Given the description of an element on the screen output the (x, y) to click on. 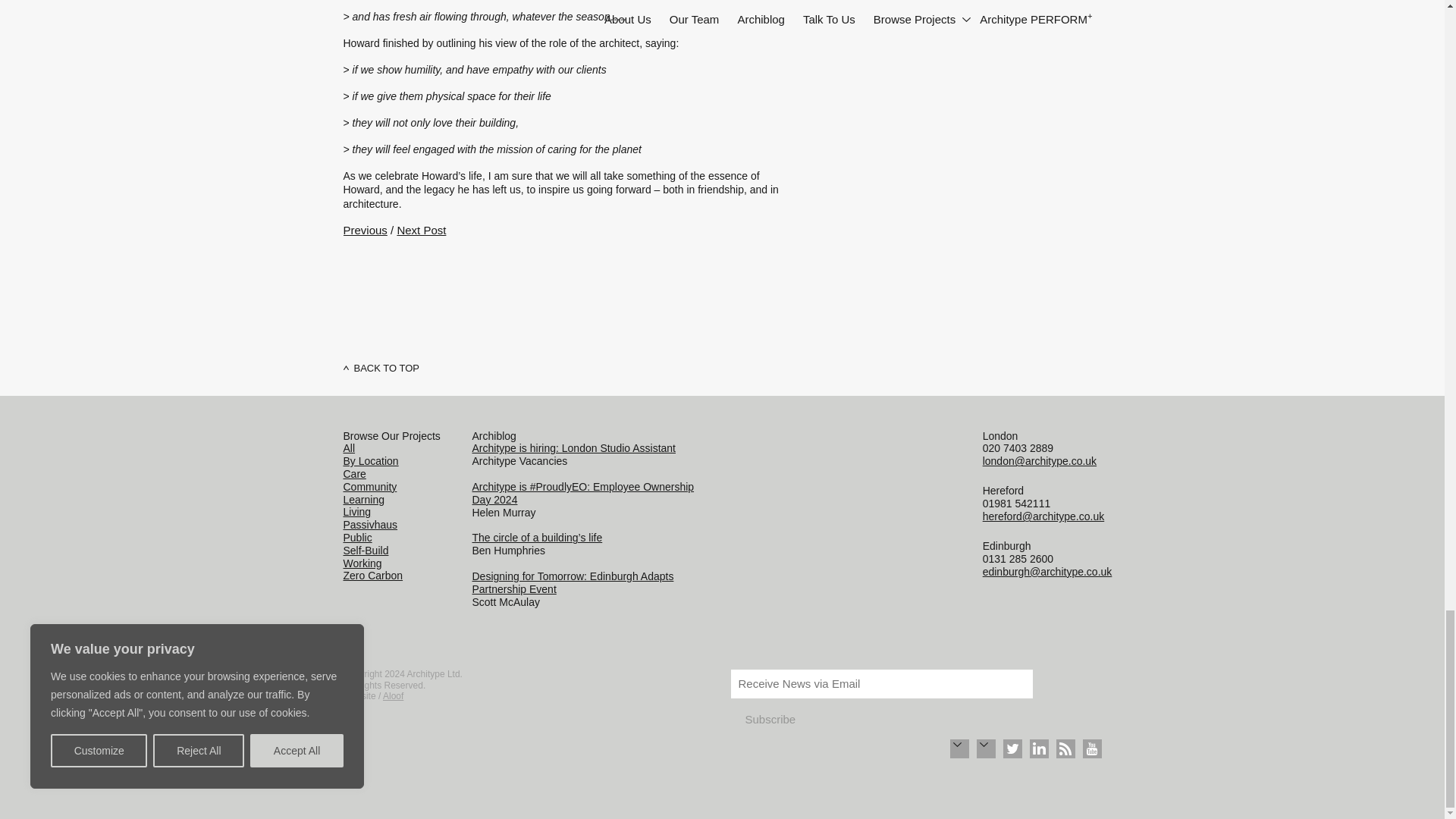
Browse Buildings for Passivhaus (369, 524)
Subscribe (769, 719)
Browse Buildings for Learning (363, 499)
Browse Buildings for Care (353, 473)
Browse Buildings for Community (369, 486)
Browse Buildings for Living (356, 511)
Browse Buildings for Public (356, 537)
